Given the description of an element on the screen output the (x, y) to click on. 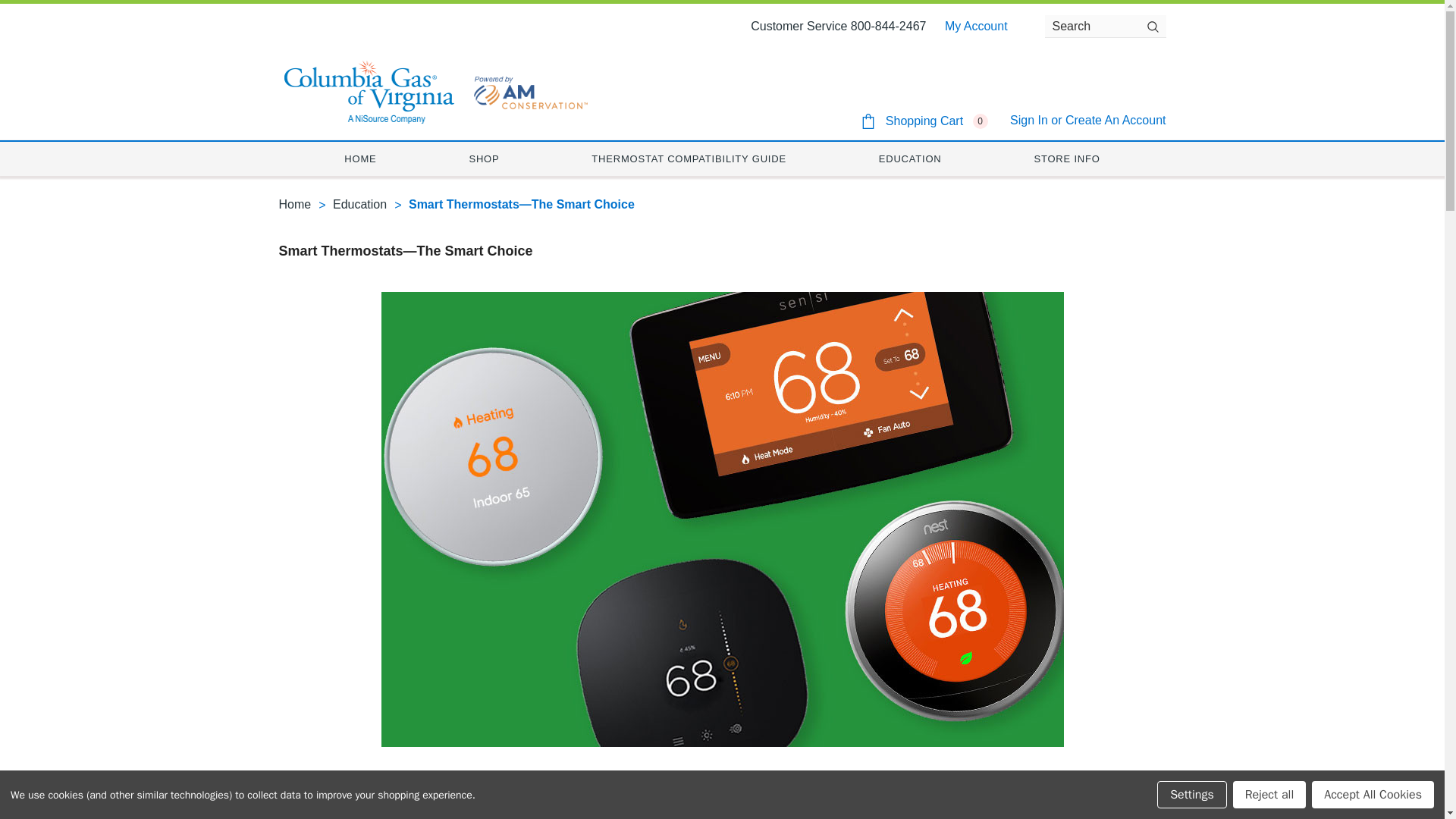
HOME (359, 158)
SHOP (483, 158)
Create An Account (1115, 120)
EDUCATION (910, 158)
Shopping Cart 0 (923, 120)
My Account (975, 26)
Customer Service 800-844-2467 (838, 26)
THERMOSTAT COMPATIBILITY GUIDE (688, 158)
Columbia Gas of Virginia Online Store (529, 90)
Columbia Gas of Virginia Online Store (366, 90)
Sign In (1029, 120)
STORE INFO (1066, 158)
